Given the description of an element on the screen output the (x, y) to click on. 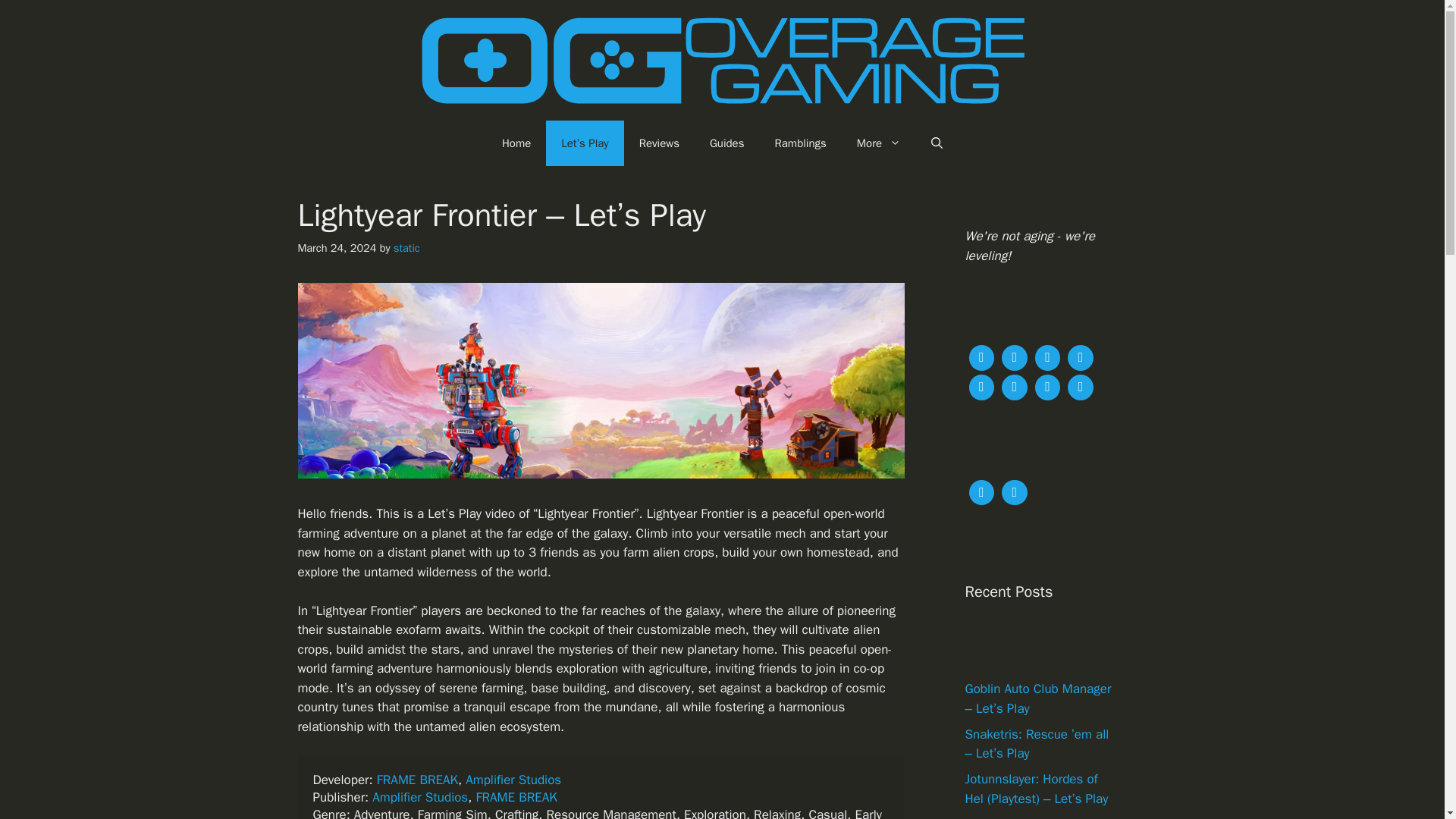
Amplifier Studios (512, 779)
Steam (1080, 356)
Ramblings (800, 143)
static (406, 247)
Reviews (659, 143)
FRAME BREAK (516, 797)
Mastodon (1013, 356)
Mail (1047, 385)
View all posts by static (406, 247)
Discord (980, 385)
